Given the description of an element on the screen output the (x, y) to click on. 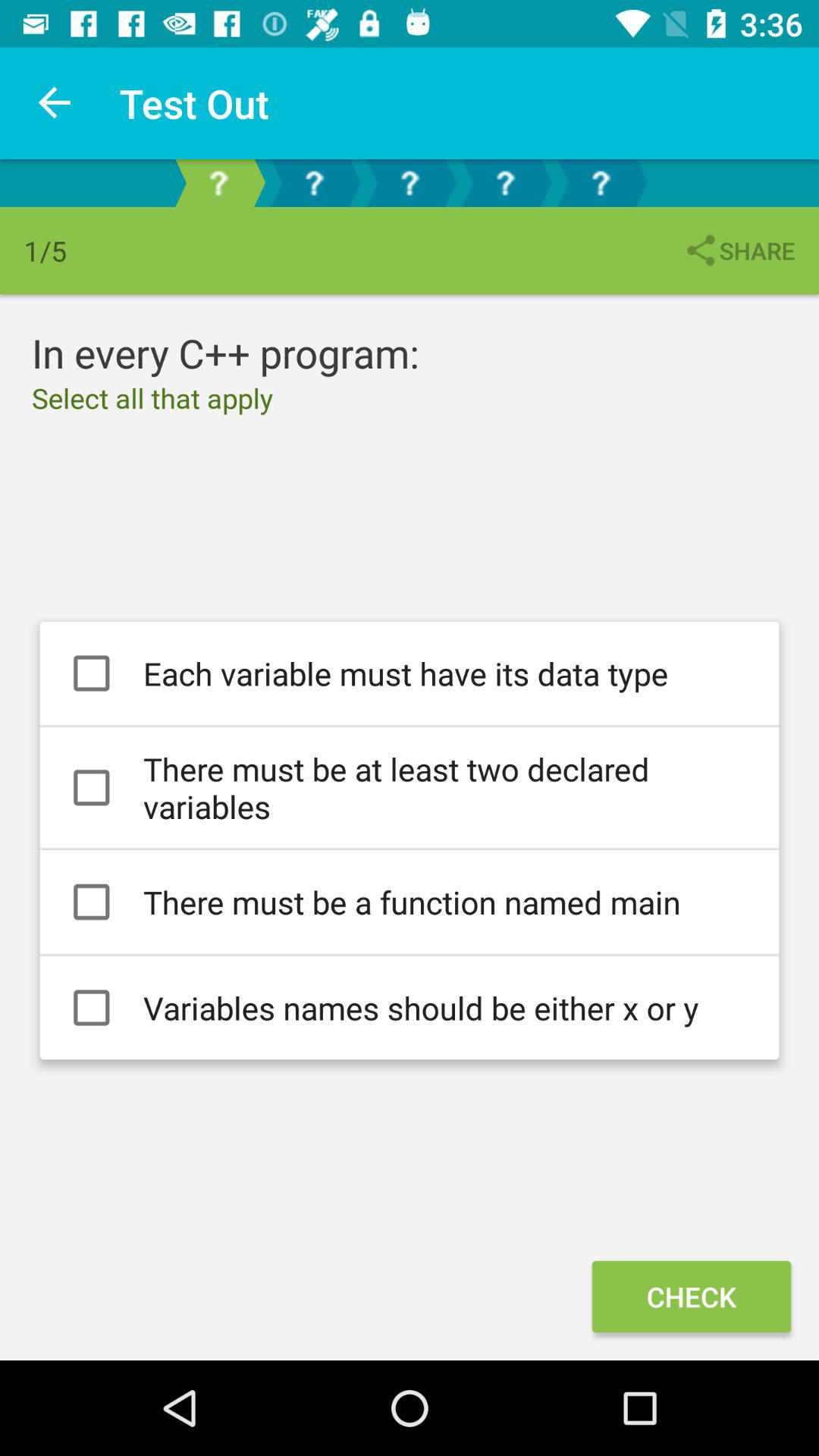
next question (313, 183)
